Given the description of an element on the screen output the (x, y) to click on. 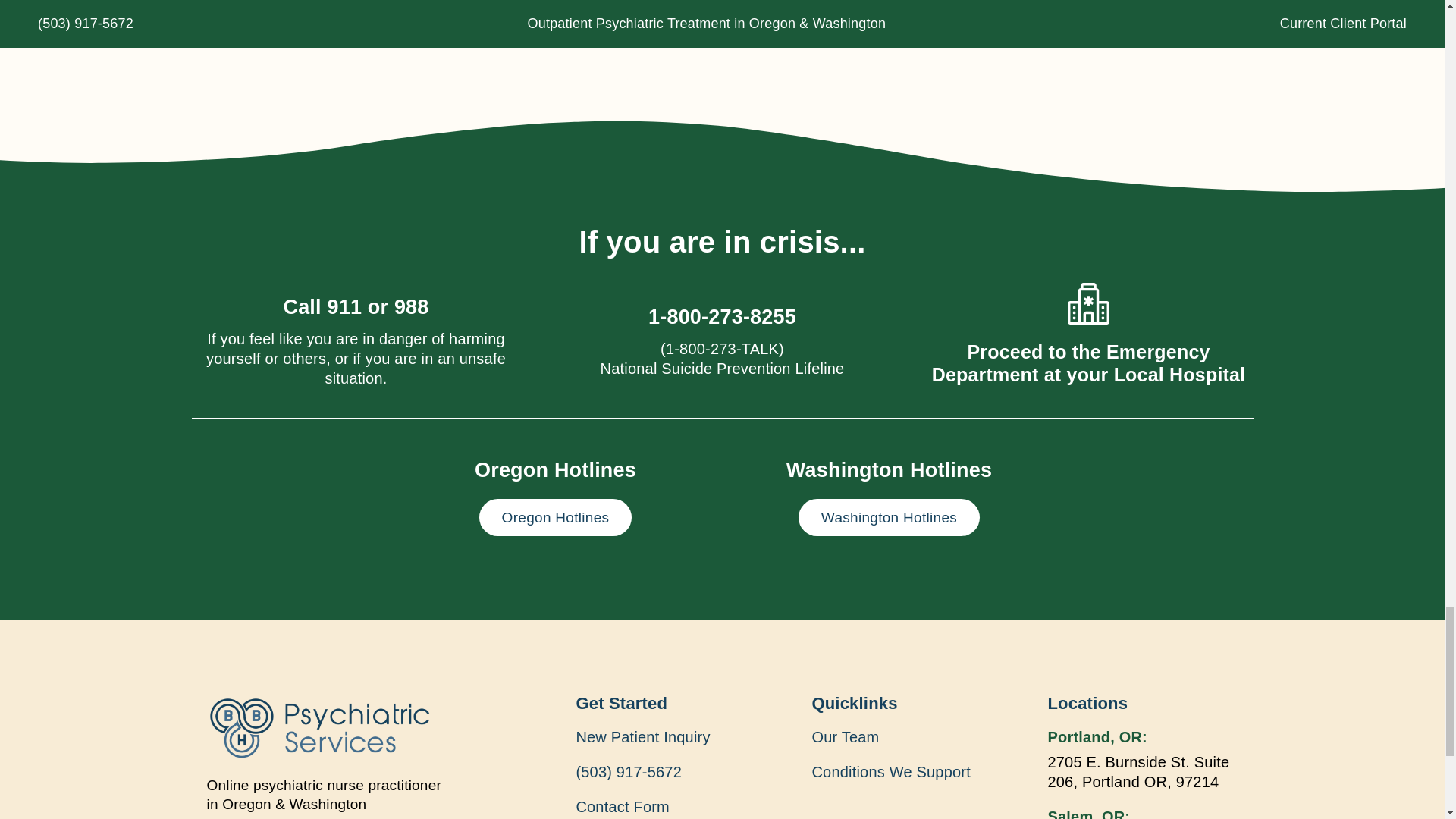
Contact Us (507, 13)
Request An Evaluation (342, 13)
